Given the description of an element on the screen output the (x, y) to click on. 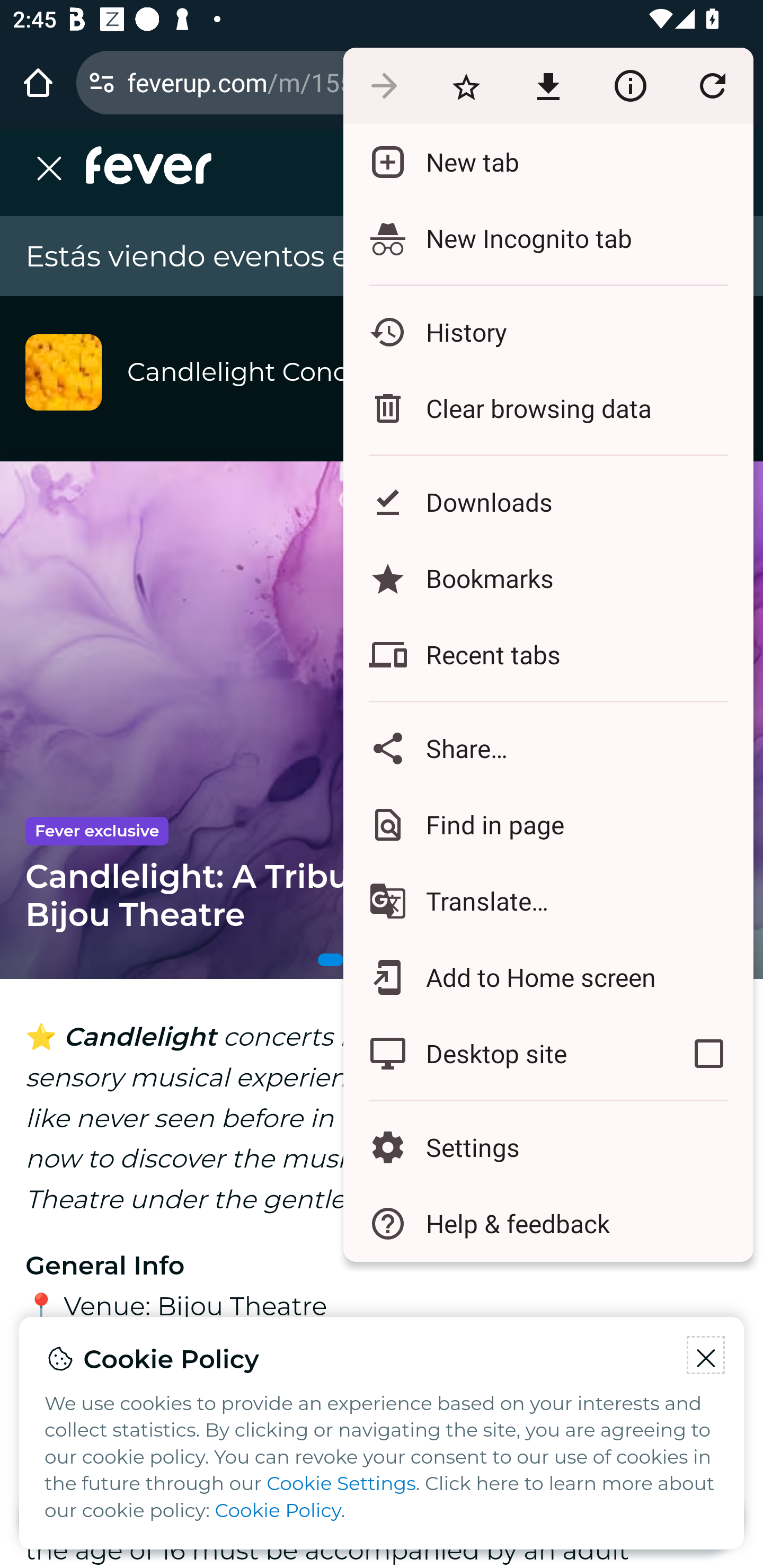
Forward (383, 85)
Bookmark (465, 85)
Download (548, 85)
Page info (630, 85)
Refresh (712, 85)
New tab (548, 161)
New Incognito tab (548, 237)
History (548, 332)
Clear browsing data (548, 408)
Downloads (548, 502)
Bookmarks (548, 578)
Recent tabs (548, 654)
Share… (548, 748)
Find in page (548, 824)
Translate… (548, 900)
Add to Home screen (548, 977)
Desktop site Turn on Request desktop site (503, 1053)
Settings (548, 1146)
Help & feedback (548, 1223)
